Given the description of an element on the screen output the (x, y) to click on. 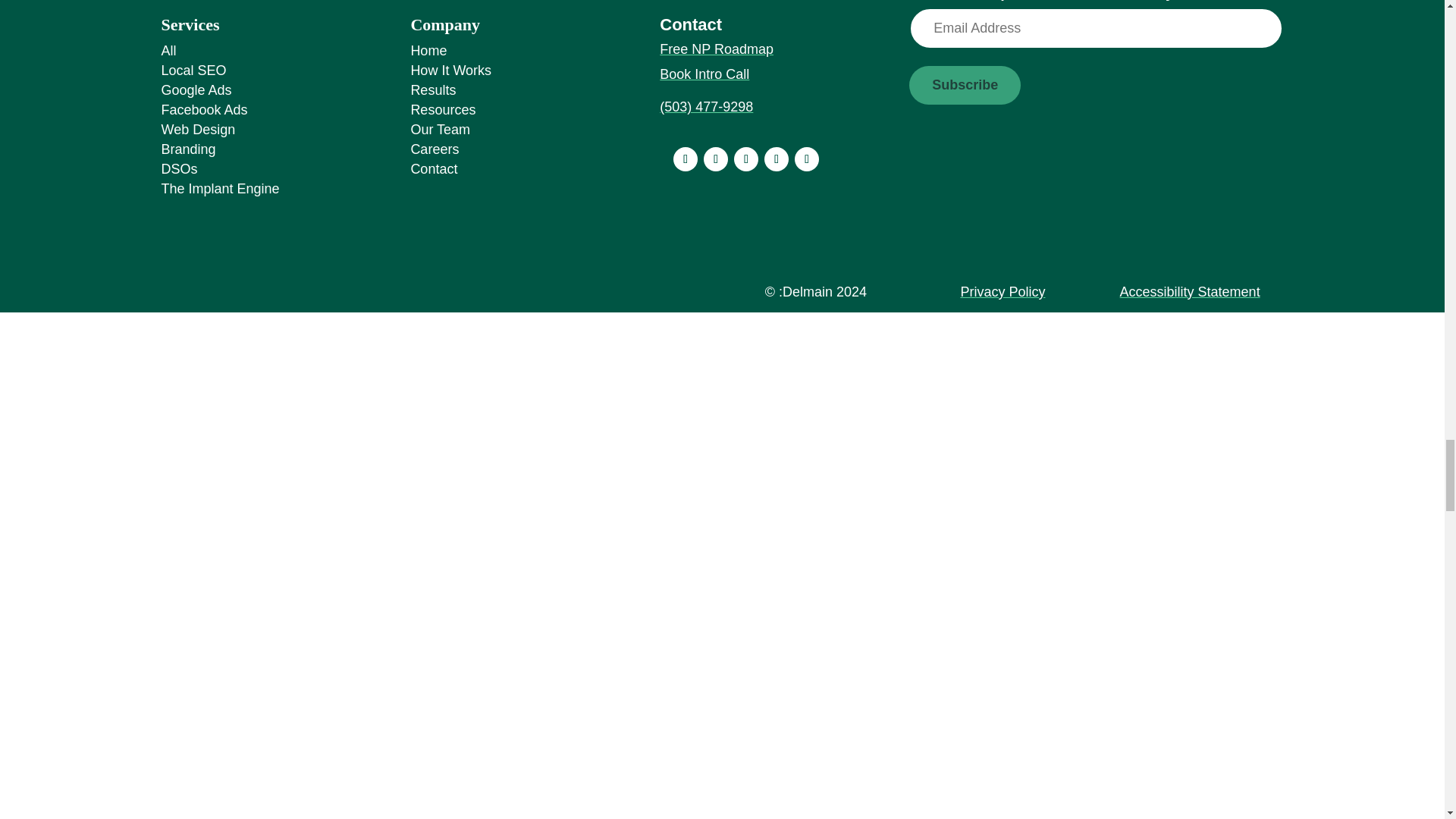
Subscribe (964, 85)
Follow on Youtube (745, 159)
Follow on Instagram (715, 159)
Privacy Policy (1002, 290)
Google Ads (195, 89)
DSOs (178, 168)
Free NP Roadmap (716, 48)
The Implant Engine (219, 188)
Results (432, 89)
All (168, 50)
